Given the description of an element on the screen output the (x, y) to click on. 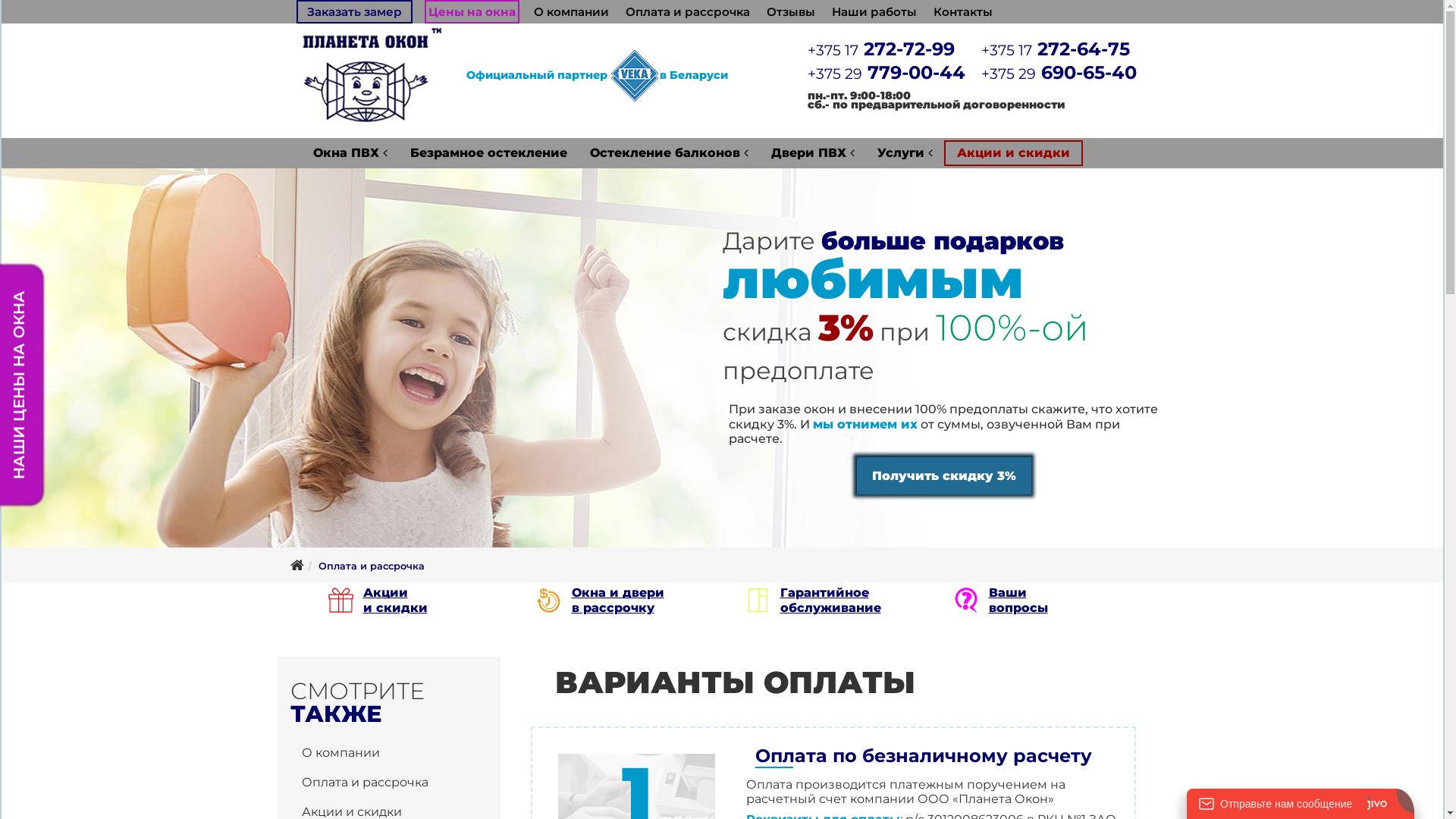
+375 29 690-65-40 Element type: text (1058, 72)
+375 29 779-00-44 Element type: text (886, 72)
+375 17 272-72-99 Element type: text (880, 48)
+375 17 272-64-75 Element type: text (1055, 48)
